Given the description of an element on the screen output the (x, y) to click on. 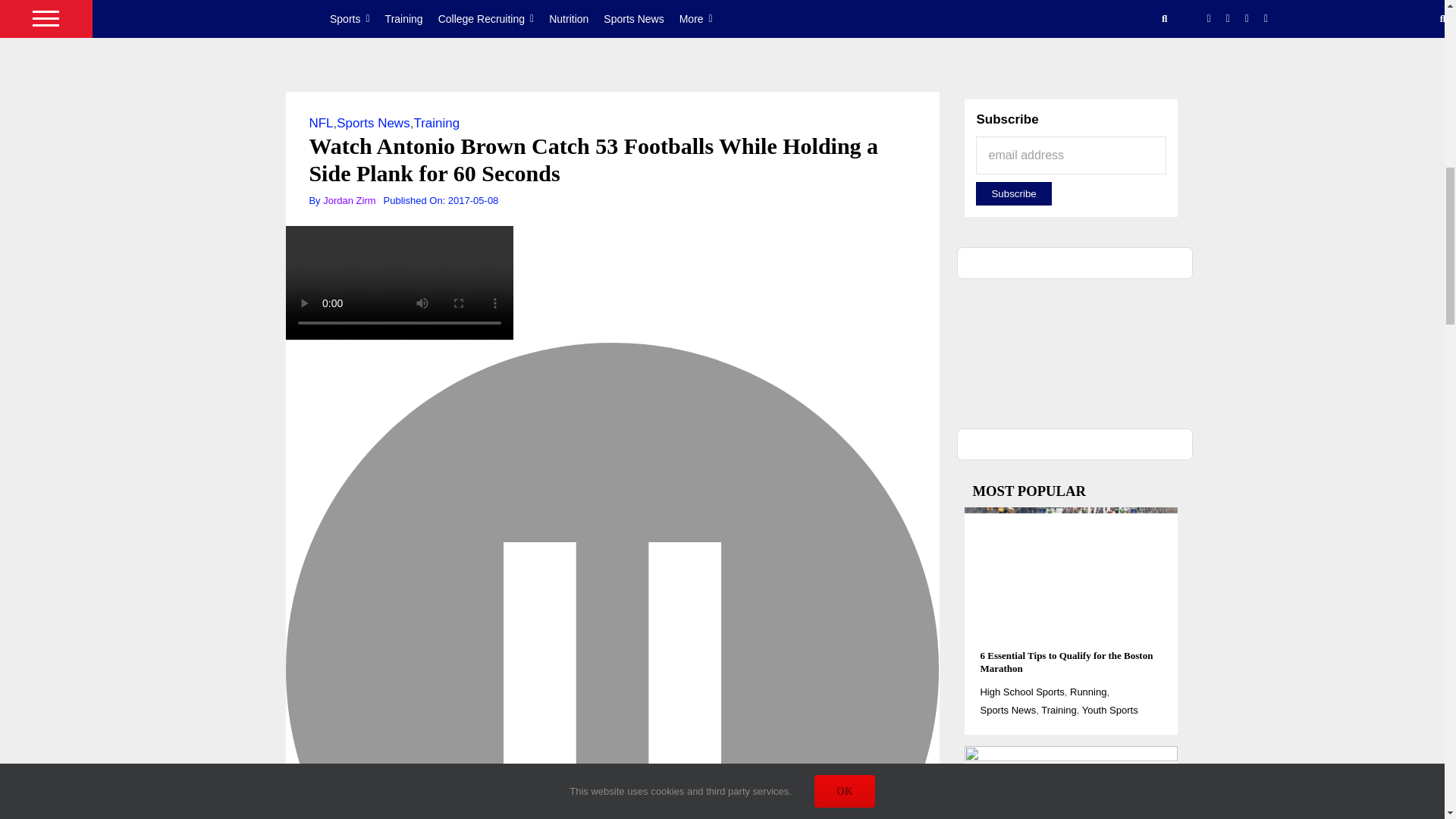
Sports News (372, 123)
Posts by Jordan Zirm (349, 200)
Training (436, 123)
Subscribe (1013, 193)
NFL (320, 123)
